Given the description of an element on the screen output the (x, y) to click on. 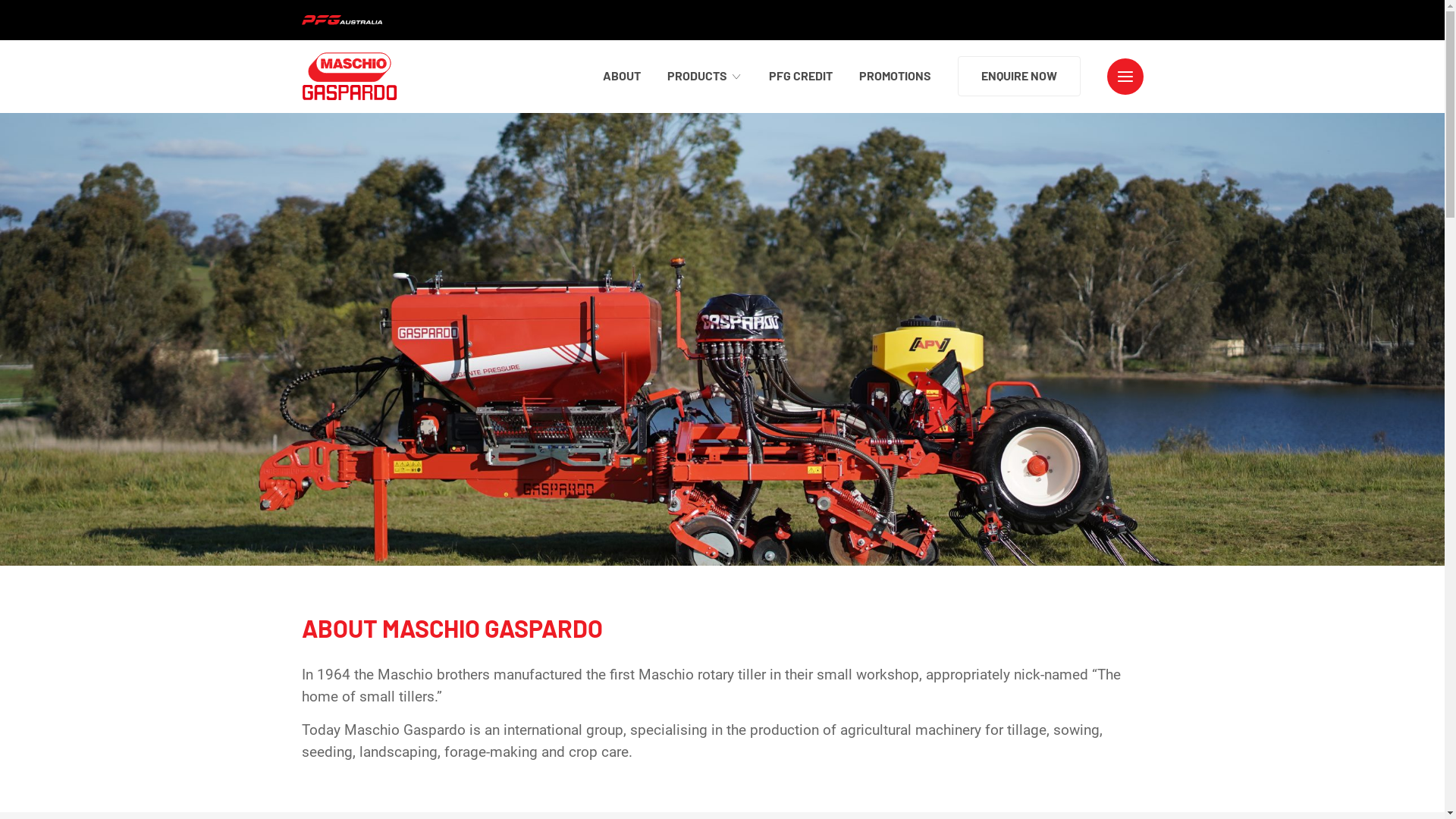
PRODUCTS Element type: text (704, 76)
ENQUIRE NOW Element type: text (1018, 76)
PROMOTIONS Element type: text (894, 76)
PFG CREDIT Element type: text (800, 76)
ABOUT Element type: text (621, 76)
